Given the description of an element on the screen output the (x, y) to click on. 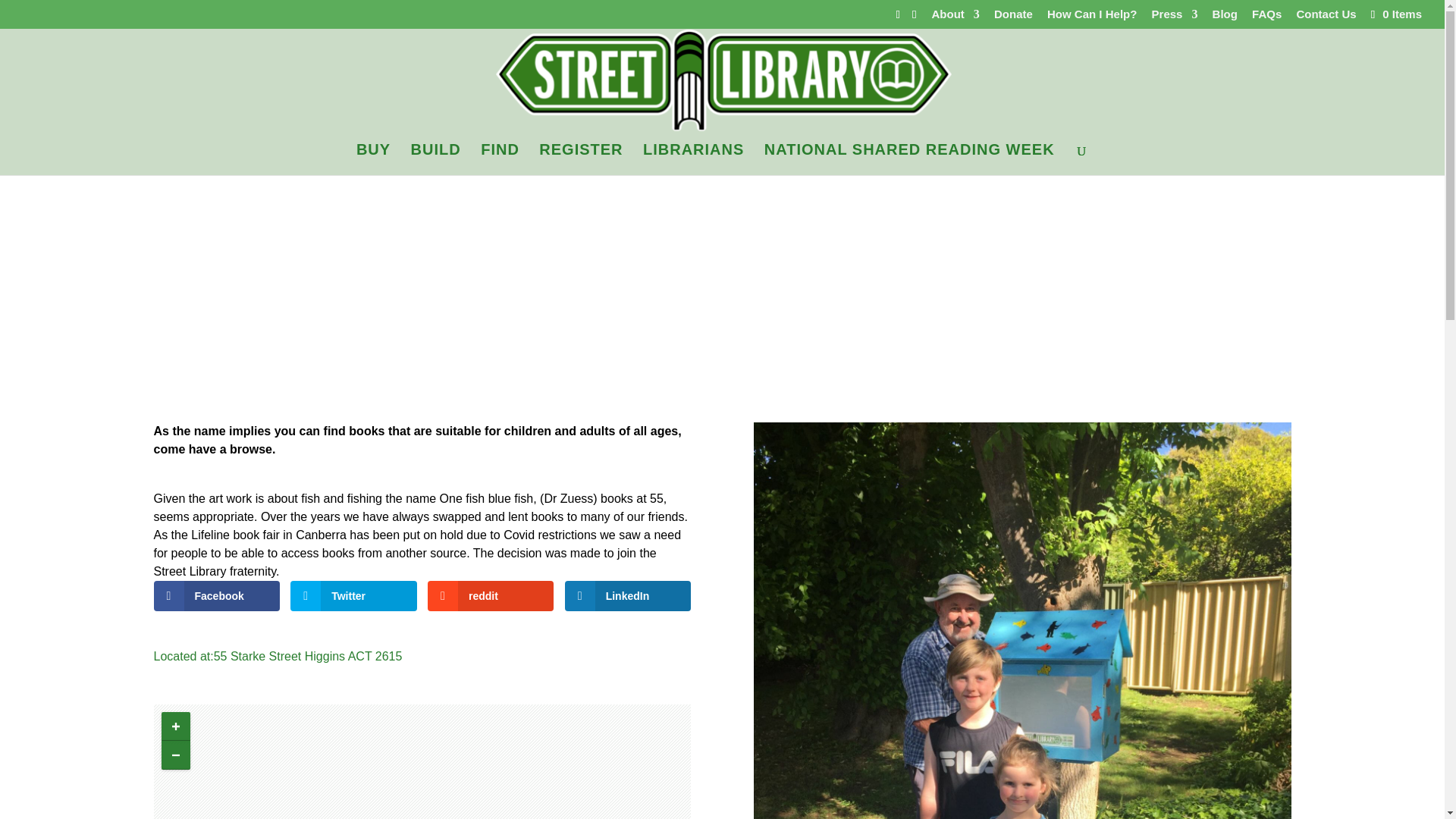
REGISTER (580, 159)
Press (1174, 17)
Zoom out (174, 755)
LinkedIn (627, 595)
Donate (1013, 17)
FAQs (1266, 17)
How Can I Help? (1091, 17)
Twitter (352, 595)
NATIONAL SHARED READING WEEK (909, 159)
About (955, 17)
